Given the description of an element on the screen output the (x, y) to click on. 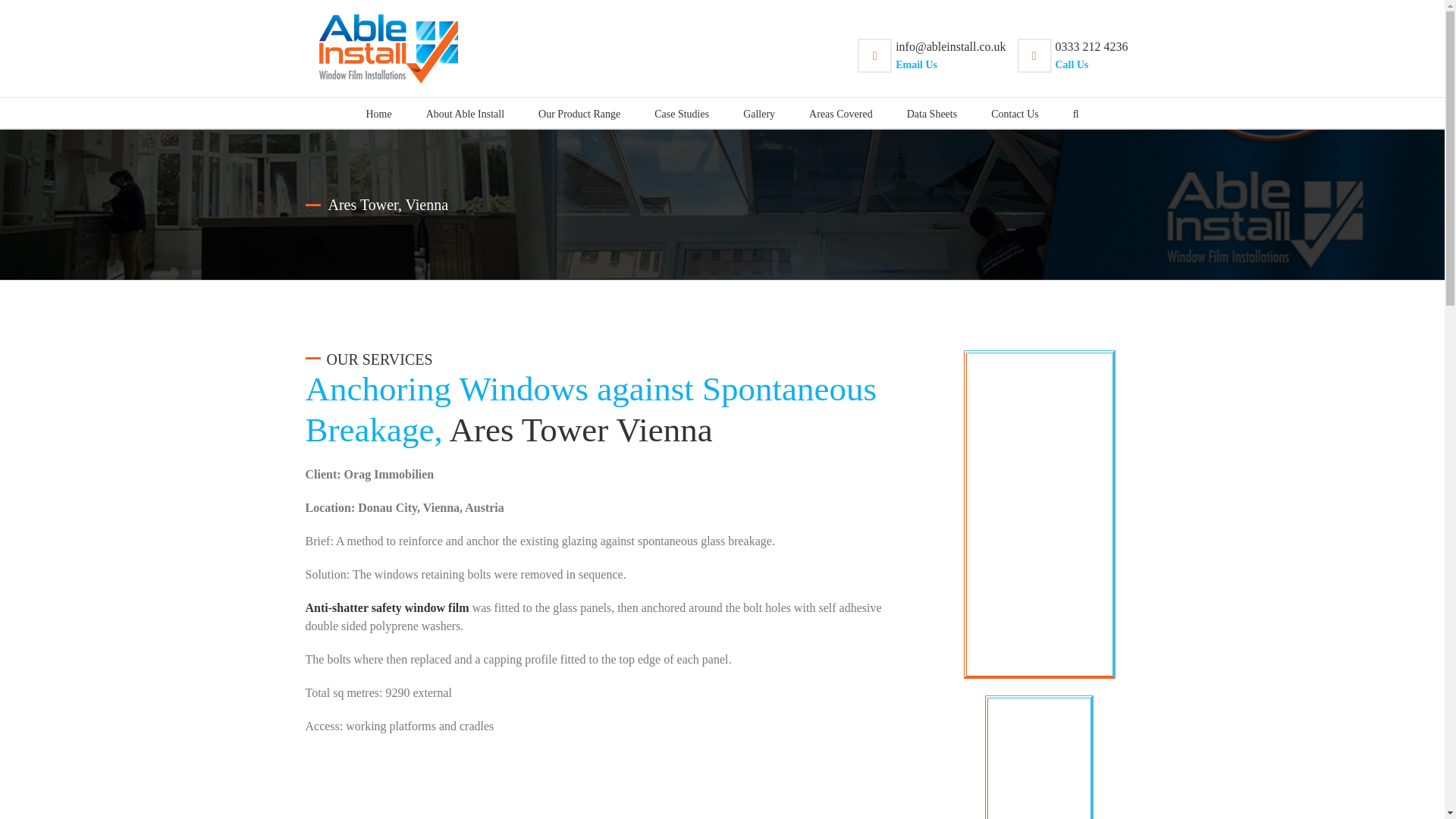
Our Product Range (579, 112)
About Able Install (1072, 55)
Areas Covered (464, 112)
Gallery (840, 112)
Case Studies (758, 112)
